Given the description of an element on the screen output the (x, y) to click on. 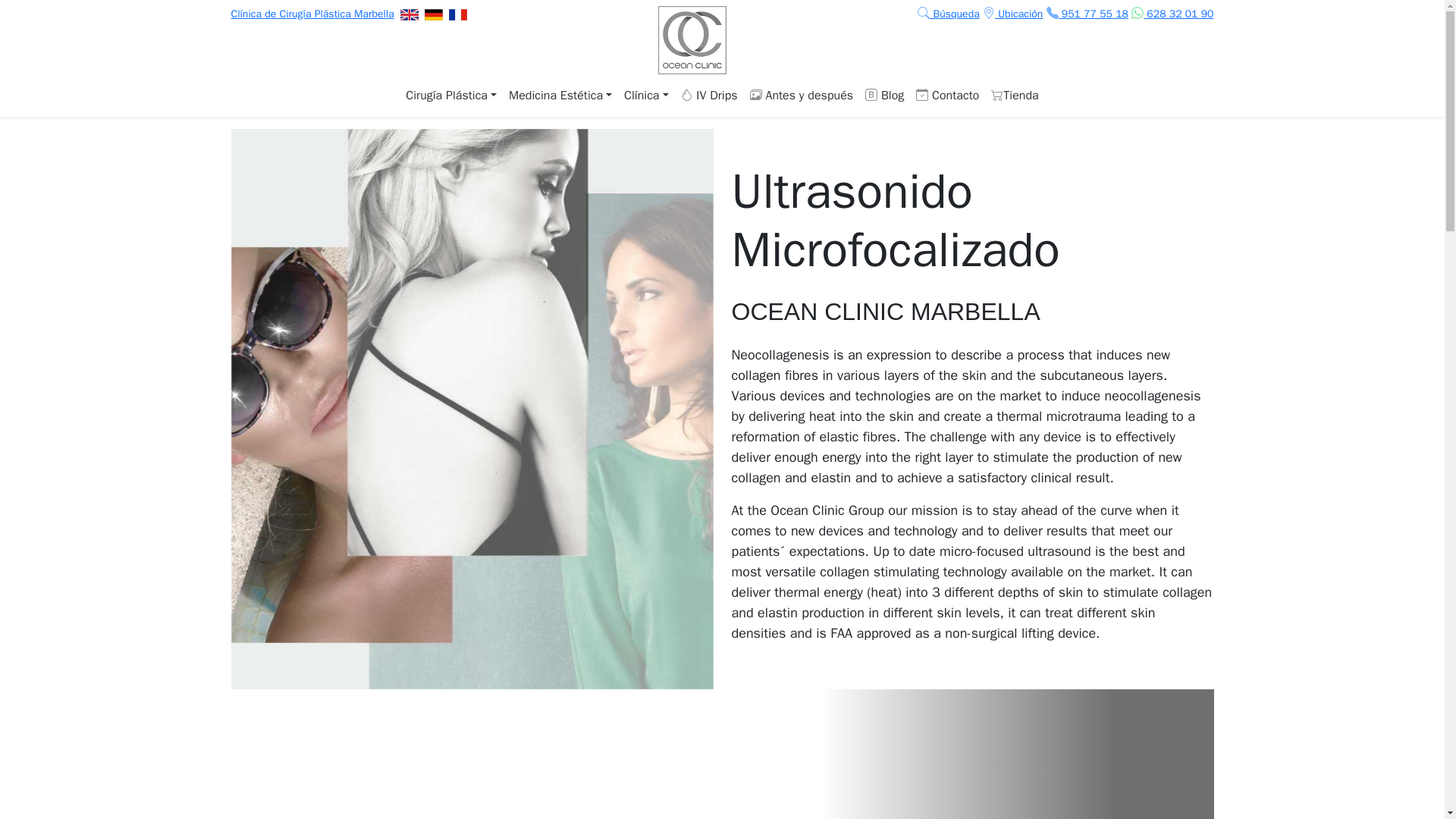
951 77 55 18 (1087, 13)
628 32 01 90 (1171, 13)
Suche (947, 13)
